Given the description of an element on the screen output the (x, y) to click on. 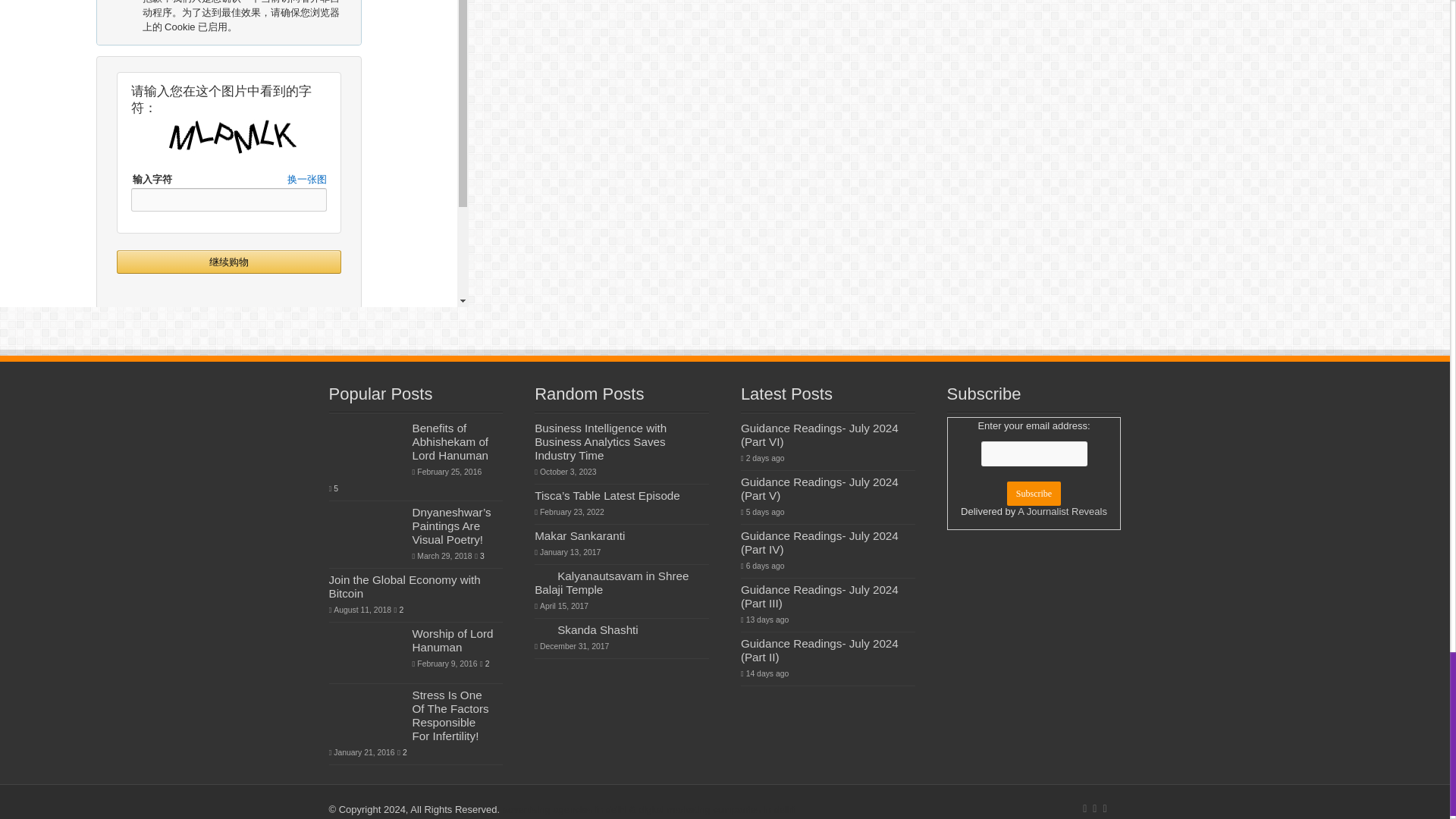
Subscribe (1034, 493)
